Given the description of an element on the screen output the (x, y) to click on. 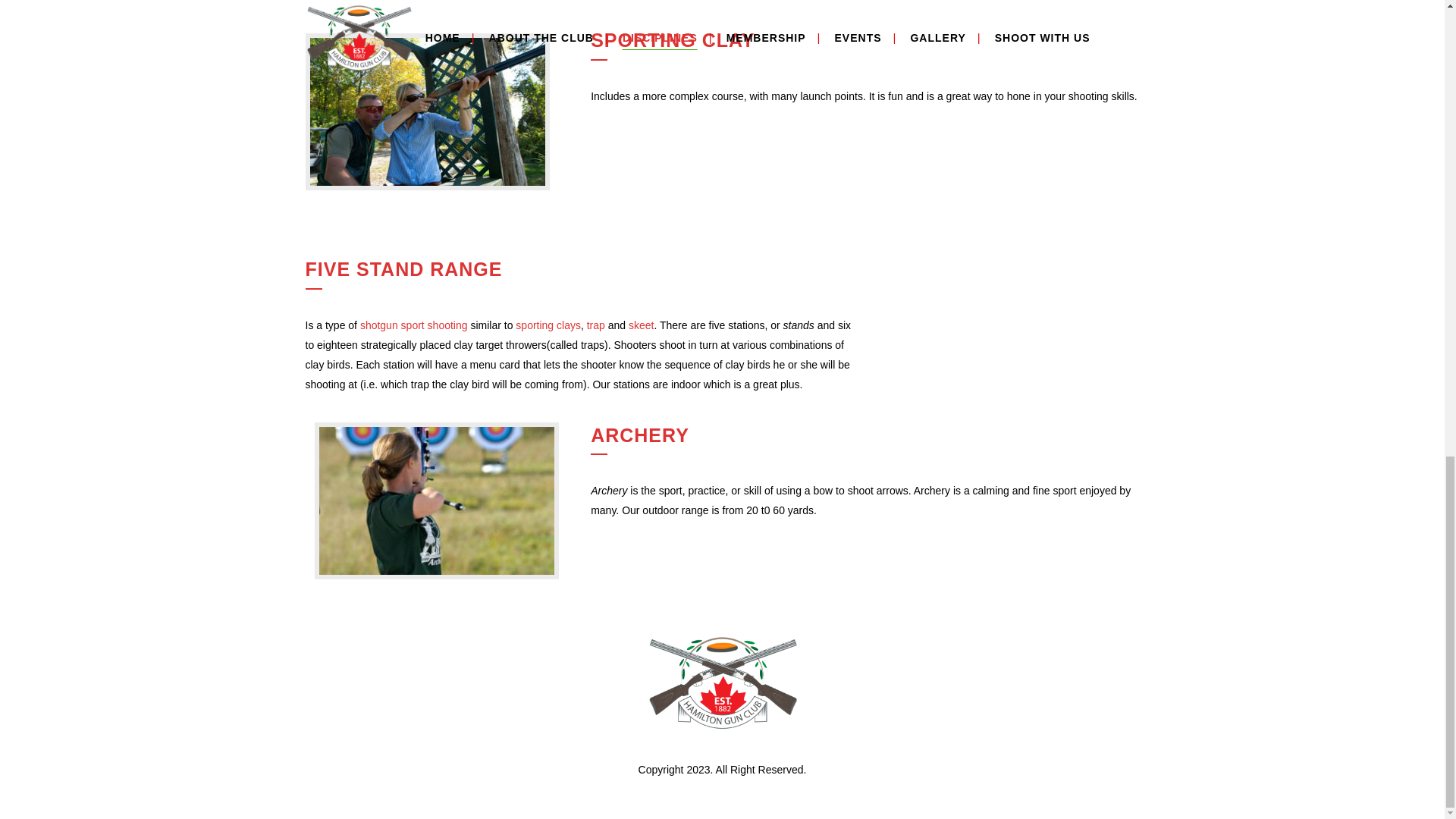
archery1 (436, 500)
Skeet shooting (640, 325)
skeet (640, 325)
shotgun (378, 325)
trap (595, 325)
Shooting sports (434, 325)
Shotgun (378, 325)
sporting clays (547, 325)
sport shooting (434, 325)
Sporting clays (547, 325)
